Given the description of an element on the screen output the (x, y) to click on. 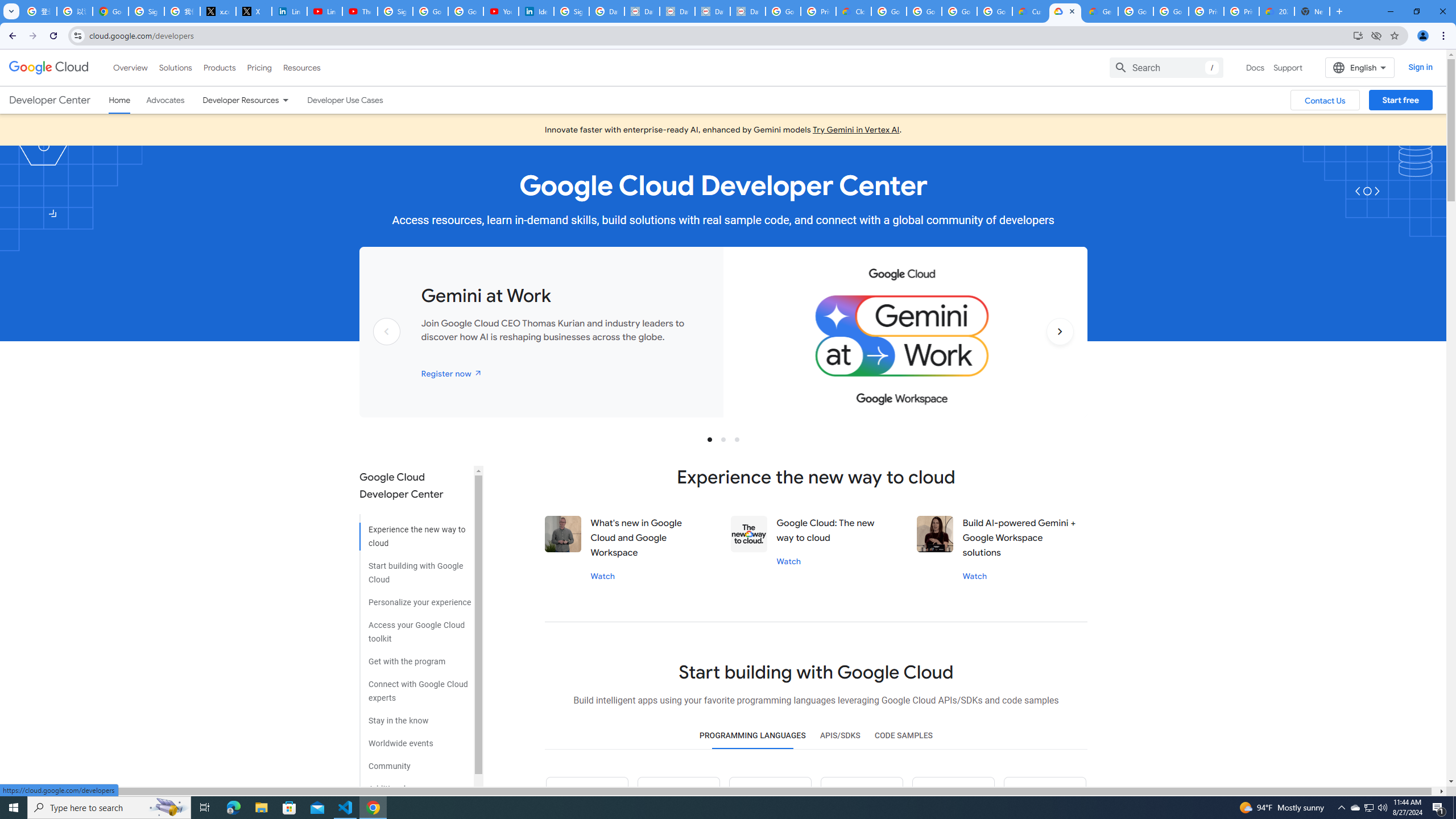
Stephanie wong's interview session (935, 533)
Watch (974, 575)
Google Workspace - Specific Terms (959, 11)
CODE SAMPLES (903, 735)
Data Privacy Framework (747, 11)
Advocates (165, 99)
Google Cloud Platform (1170, 11)
